Given the description of an element on the screen output the (x, y) to click on. 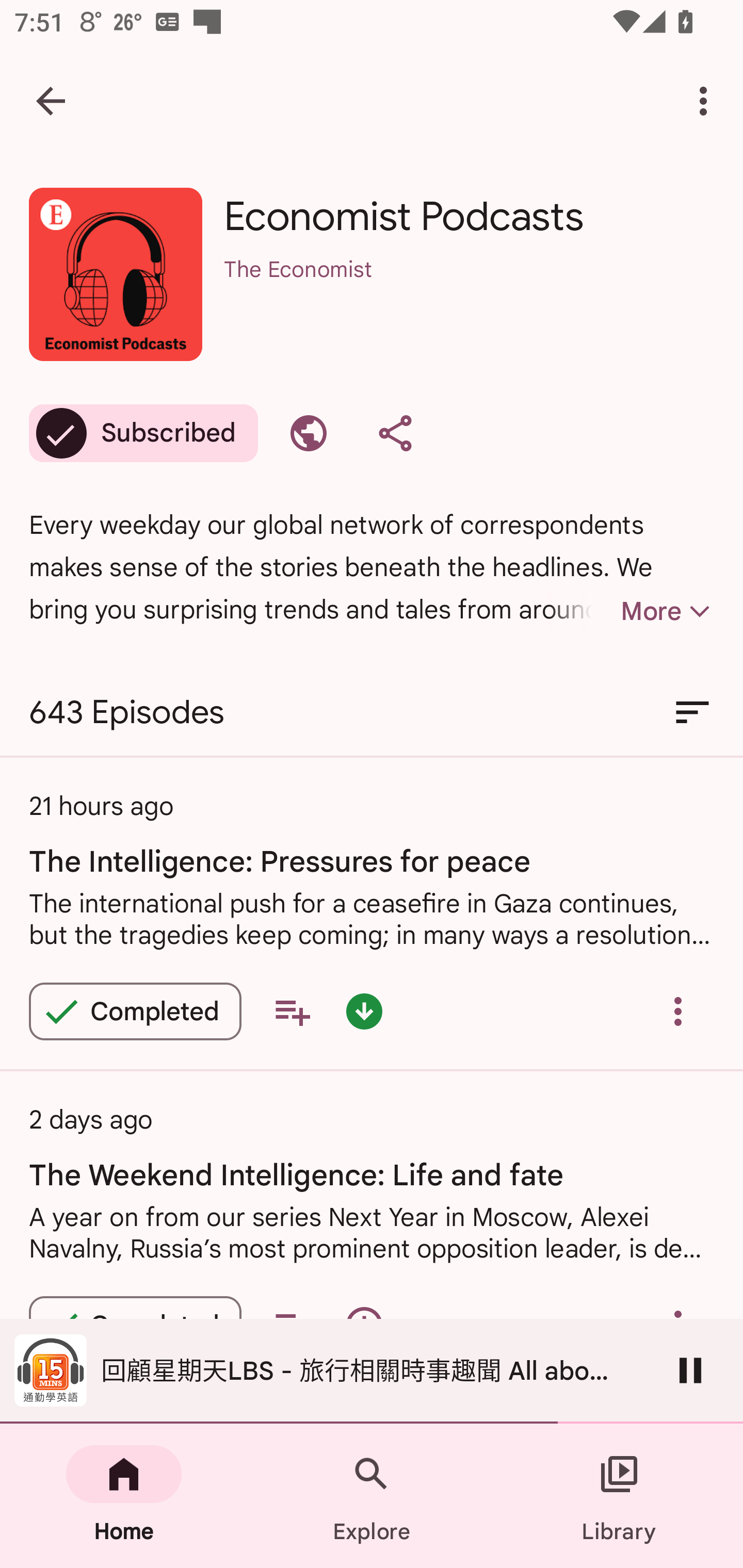
Navigate up (50, 101)
More options (706, 101)
The Economist (468, 295)
Subscribed (142, 433)
Visit website (308, 433)
Share (395, 433)
More (631, 610)
Sort (692, 712)
Add to your queue (291, 1011)
Episode downloaded - double tap for options (364, 1011)
Overflow menu (677, 1011)
Pause (690, 1370)
Explore (371, 1495)
Library (619, 1495)
